Given the description of an element on the screen output the (x, y) to click on. 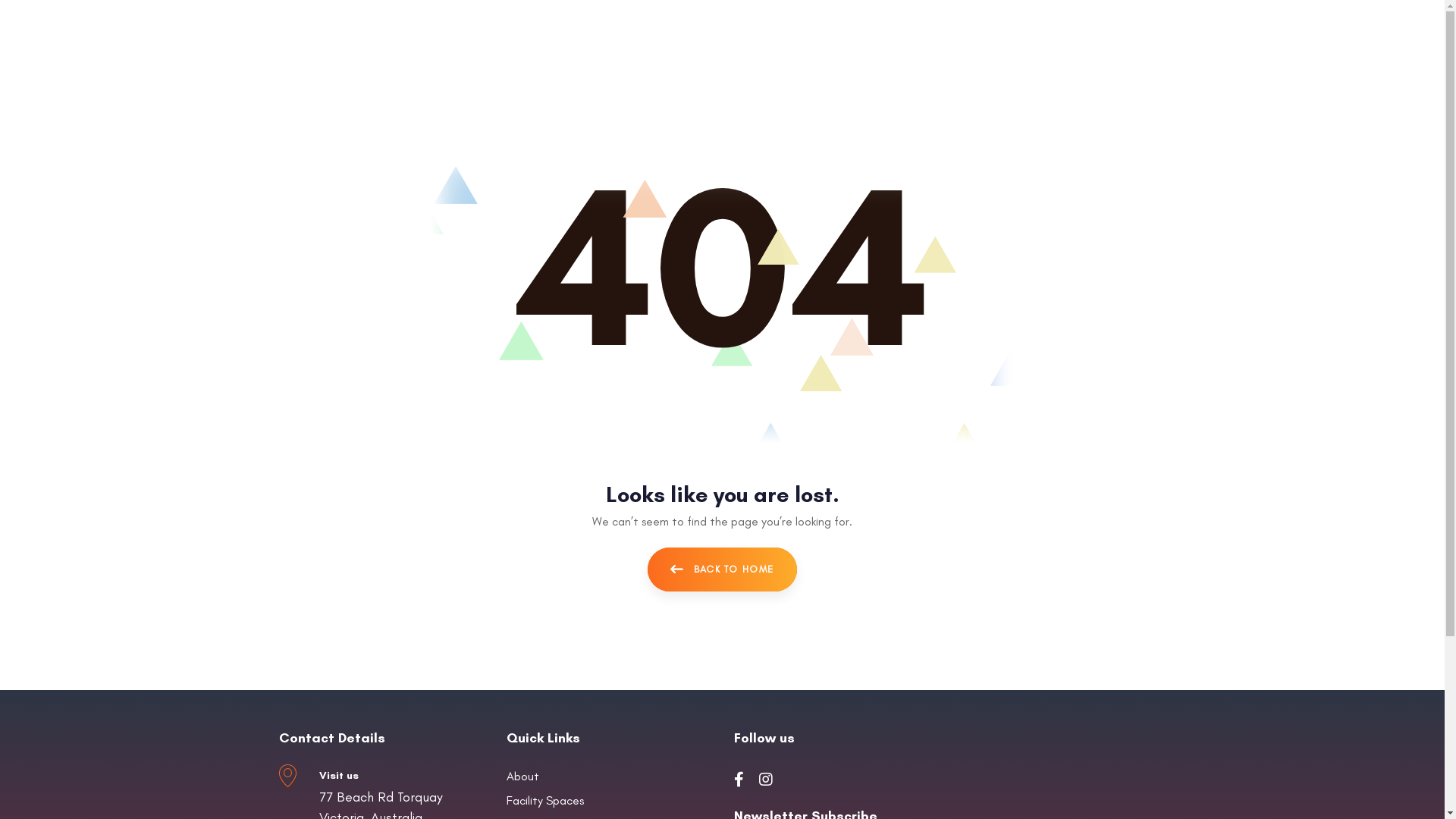
About Element type: text (608, 776)
Facility Spaces Element type: text (608, 800)
BACK TO HOME Element type: text (722, 569)
